Given the description of an element on the screen output the (x, y) to click on. 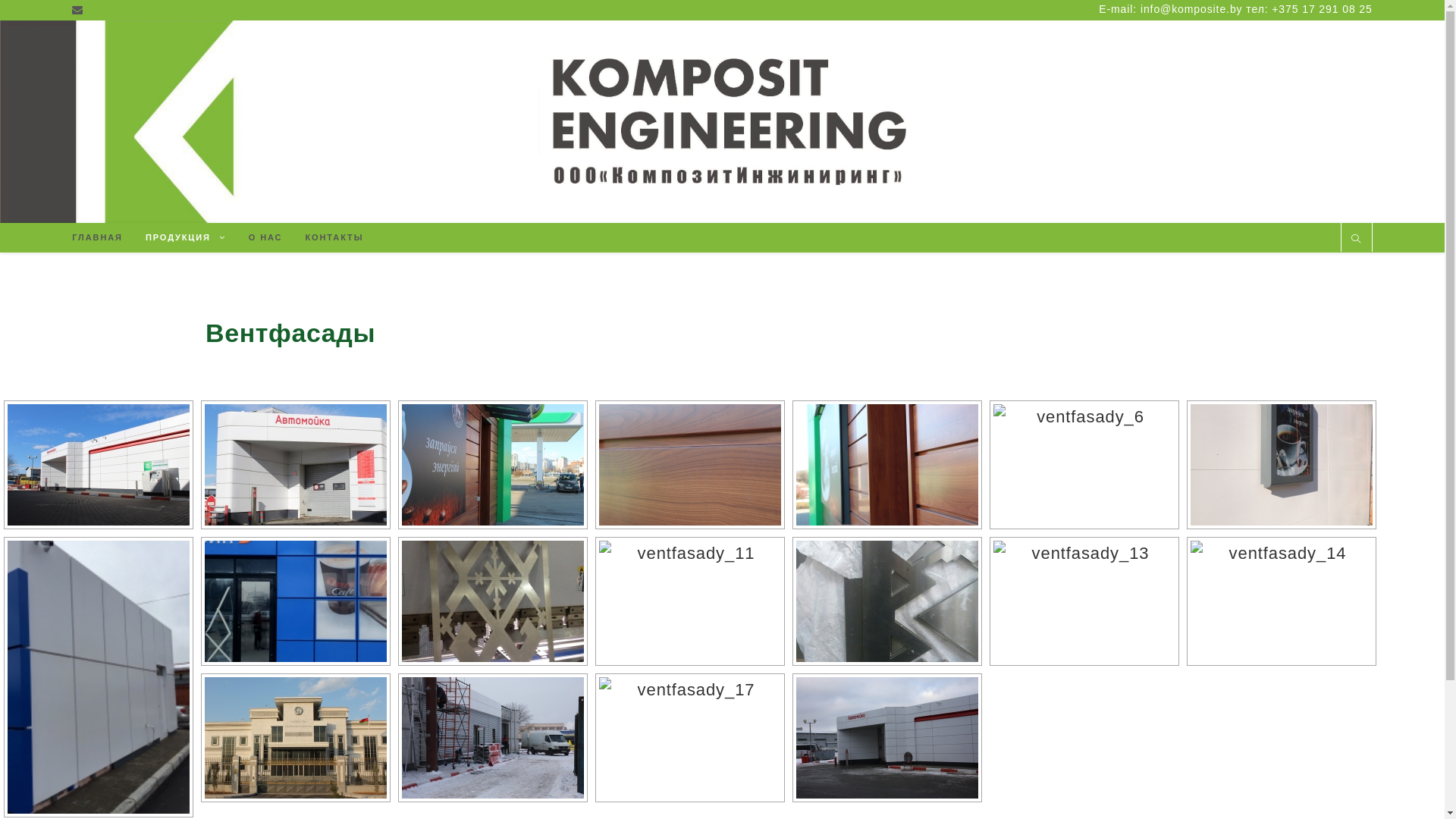
ventfasady_14 Element type: hover (1281, 601)
ventfasady_8 Element type: hover (98, 676)
ventfasady_13 Element type: hover (1084, 601)
ventfasady_18 Element type: hover (887, 737)
ventfasady_4 Element type: hover (690, 464)
Email Element type: hover (79, 8)
ventfasady_2 Element type: hover (295, 464)
ventfasady_7 Element type: hover (1281, 464)
ventfasady_16 Element type: hover (492, 737)
ventfasady_3 Element type: hover (492, 464)
ventfasady_1 Element type: hover (98, 464)
ventfasady_12 Element type: hover (887, 601)
ventfasady_9 Element type: hover (295, 601)
ventfasady_10 Element type: hover (492, 601)
ventfasady_17 Element type: hover (690, 737)
ventfasady_5 Element type: hover (887, 464)
ventfasady_11 Element type: hover (690, 601)
ventfasady_6 Element type: hover (1084, 464)
ventfasady_15 Element type: hover (295, 737)
